Given the description of an element on the screen output the (x, y) to click on. 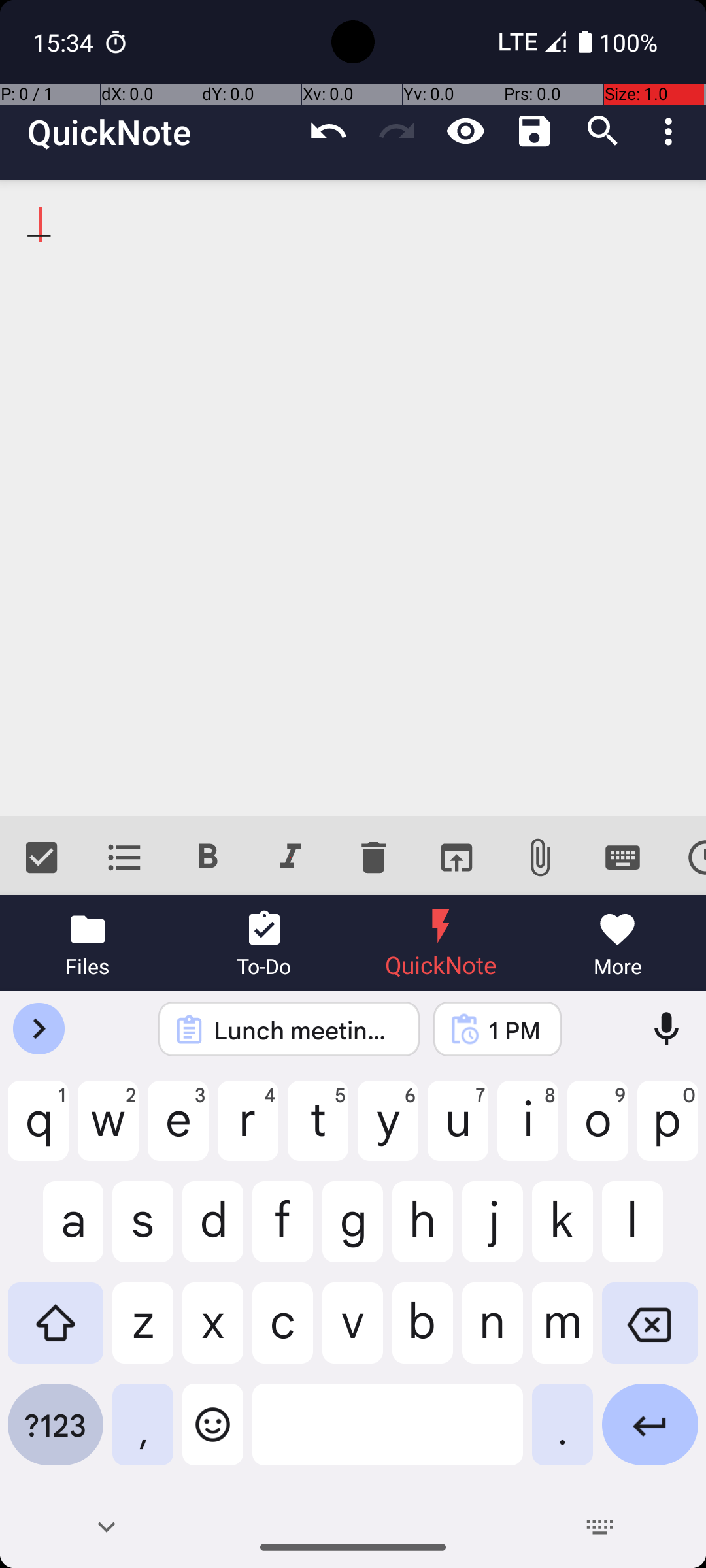
__ Element type: android.widget.EditText (353, 497)
Lunch meeting with Sarah at 1 PM Cafe L'amour. Element type: android.widget.TextView (305, 1029)
1 PM Element type: android.widget.TextView (514, 1029)
